Given the description of an element on the screen output the (x, y) to click on. 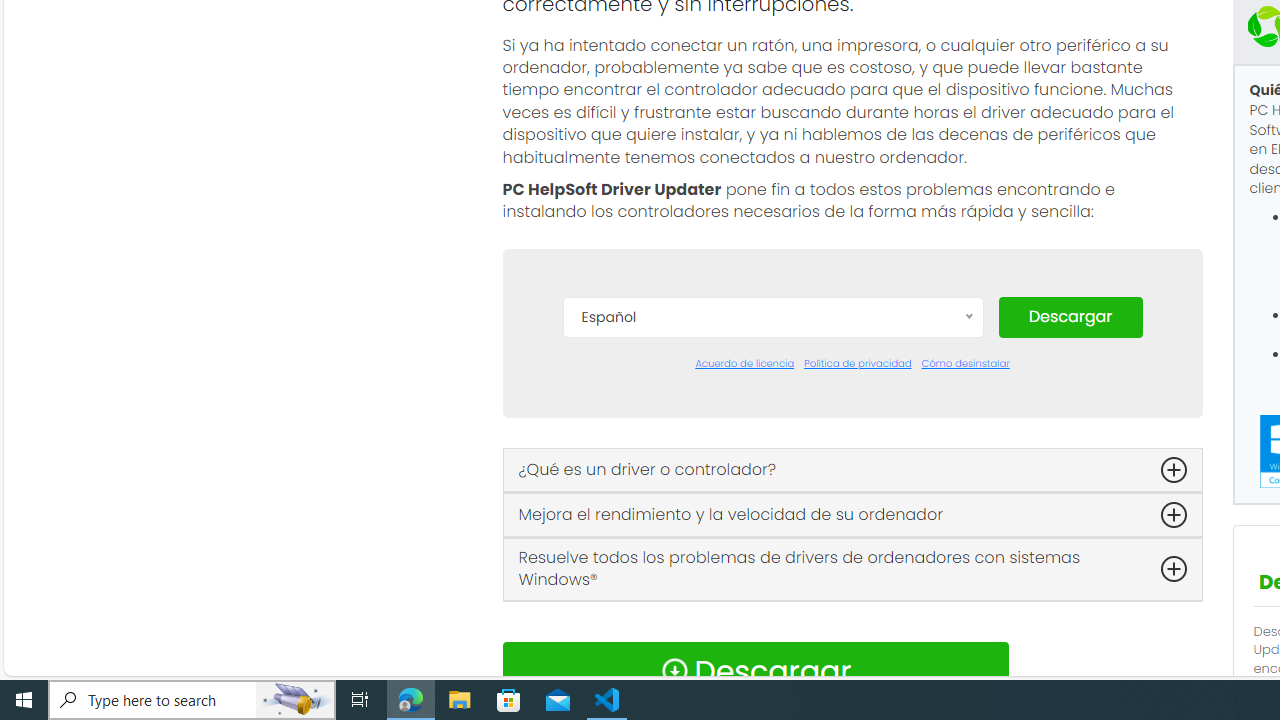
Dansk (772, 411)
